Given the description of an element on the screen output the (x, y) to click on. 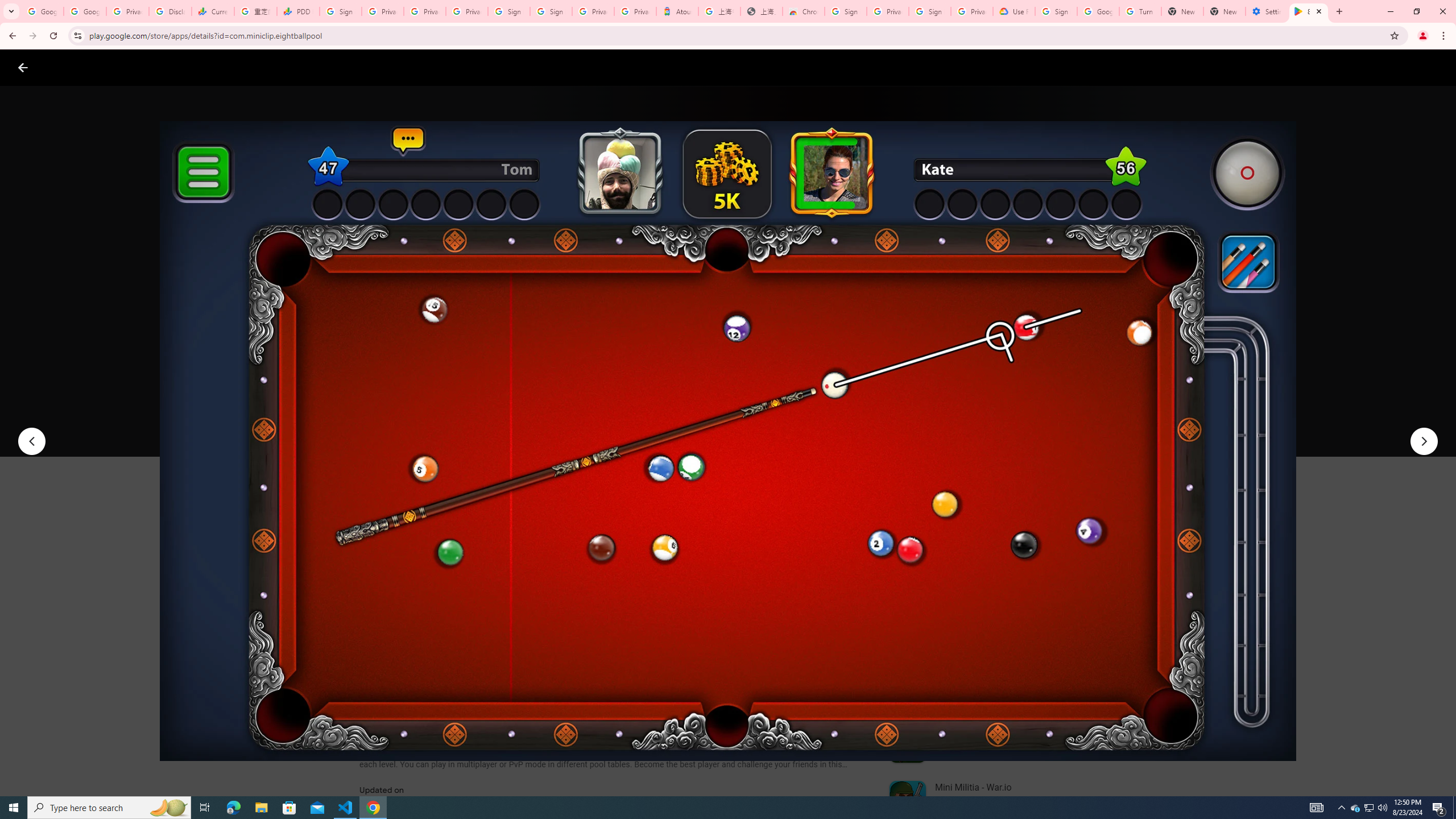
See more information on About this game (472, 681)
Play trailer (1062, 423)
Miniclip.com (386, 333)
Share (506, 422)
Install (416, 423)
Sign in - Google Accounts (550, 11)
Sign in - Google Accounts (845, 11)
Games (141, 67)
More info about this content rating (575, 385)
Sign in - Google Accounts (509, 11)
